Given the description of an element on the screen output the (x, y) to click on. 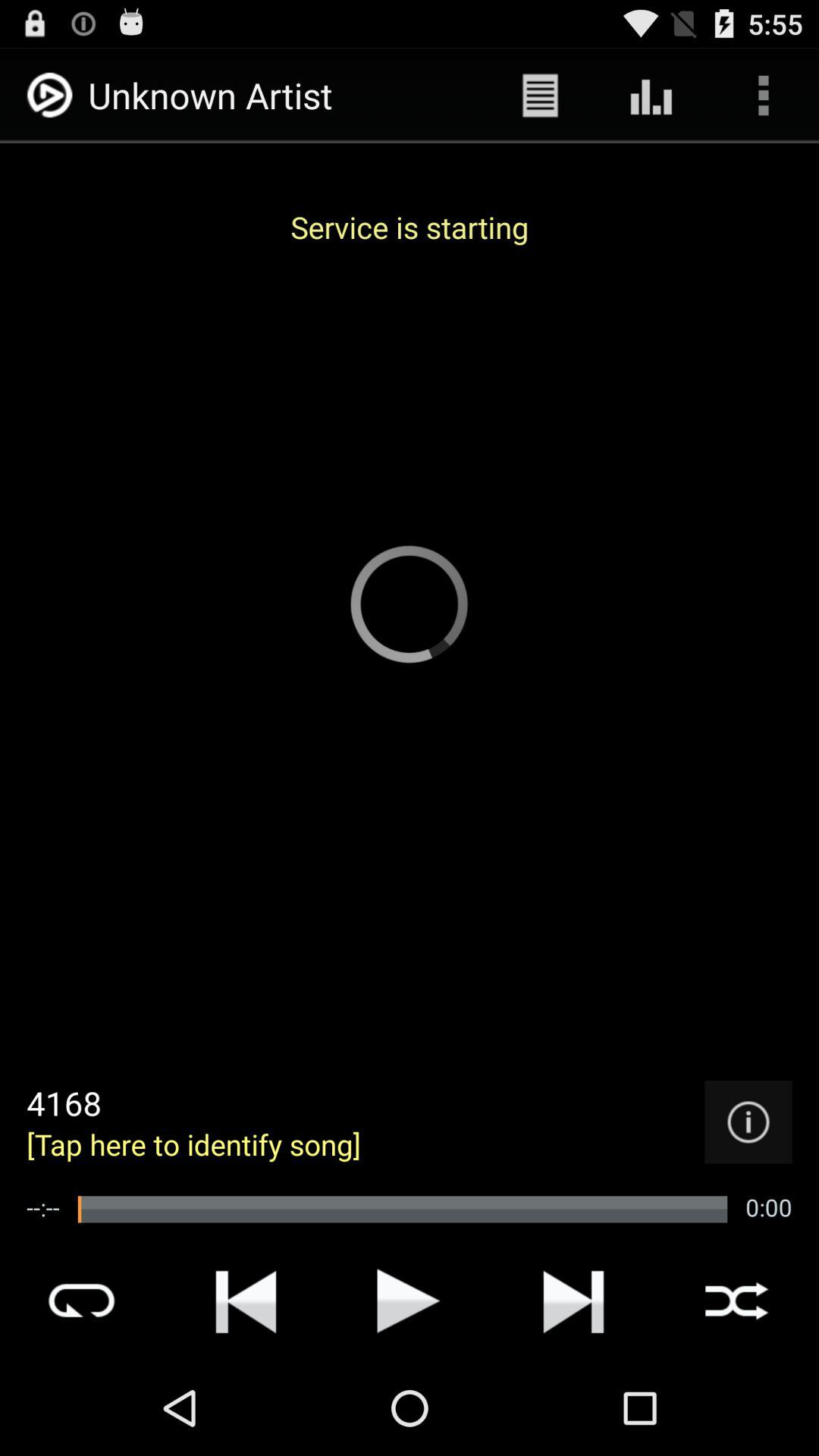
click the service is starting icon (409, 227)
